Given the description of an element on the screen output the (x, y) to click on. 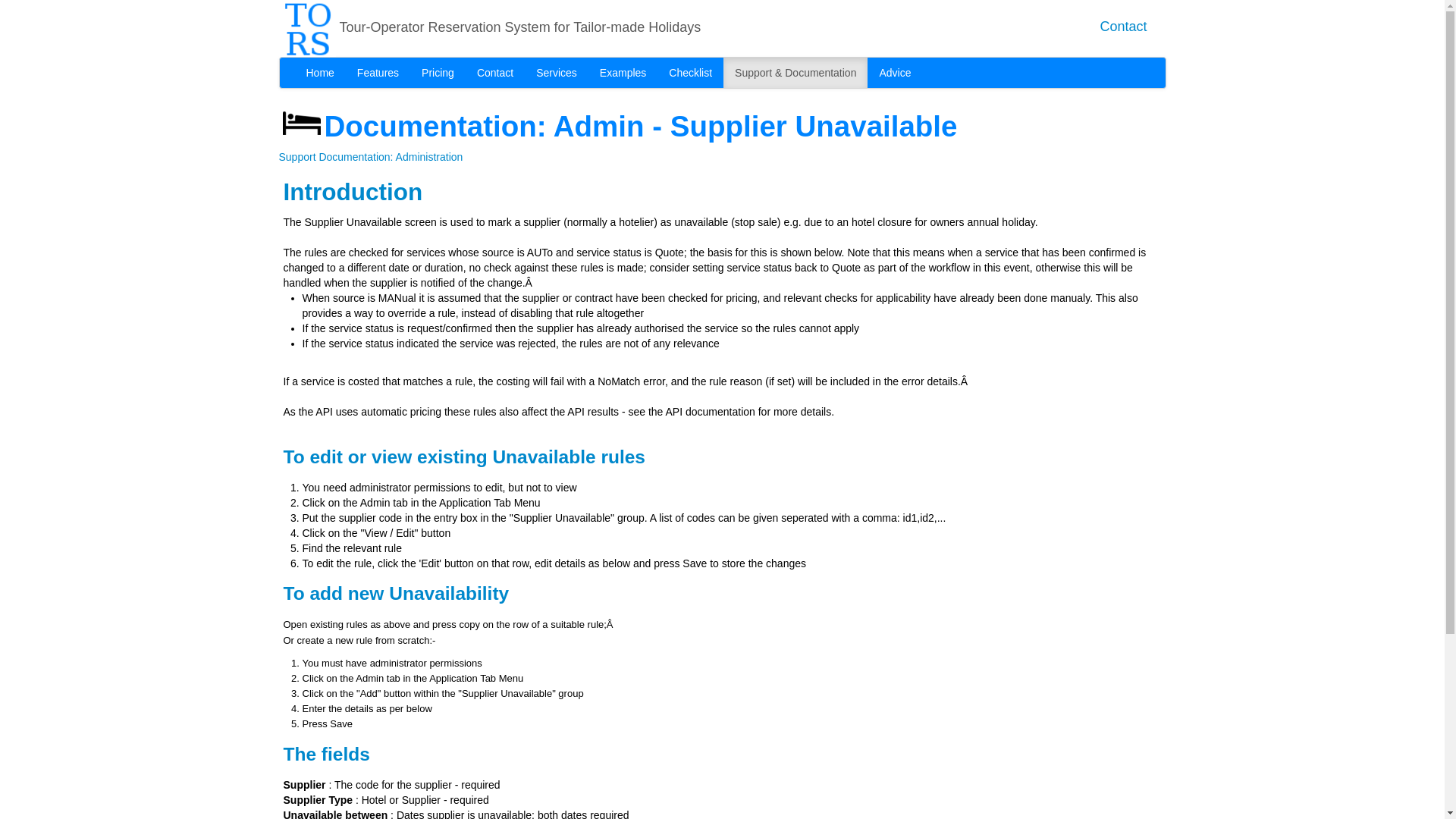
Support (297, 156)
Checklist (690, 72)
Advice for Specialist Tour Operator Startups (894, 72)
Pricing (437, 72)
Services (556, 72)
Tailor-made tour-operators quote creation system (307, 27)
Example Reservation system API usage (623, 72)
Save time using TORS.Travel at your tour operator (1123, 26)
Contact (1123, 26)
To add new Unavailability (396, 593)
Features (378, 72)
Hotel Contracts Loading (556, 72)
Advice (894, 72)
To edit or view existing Unavailable rules (464, 456)
Tour Operator Reservation system documentation (795, 72)
